Given the description of an element on the screen output the (x, y) to click on. 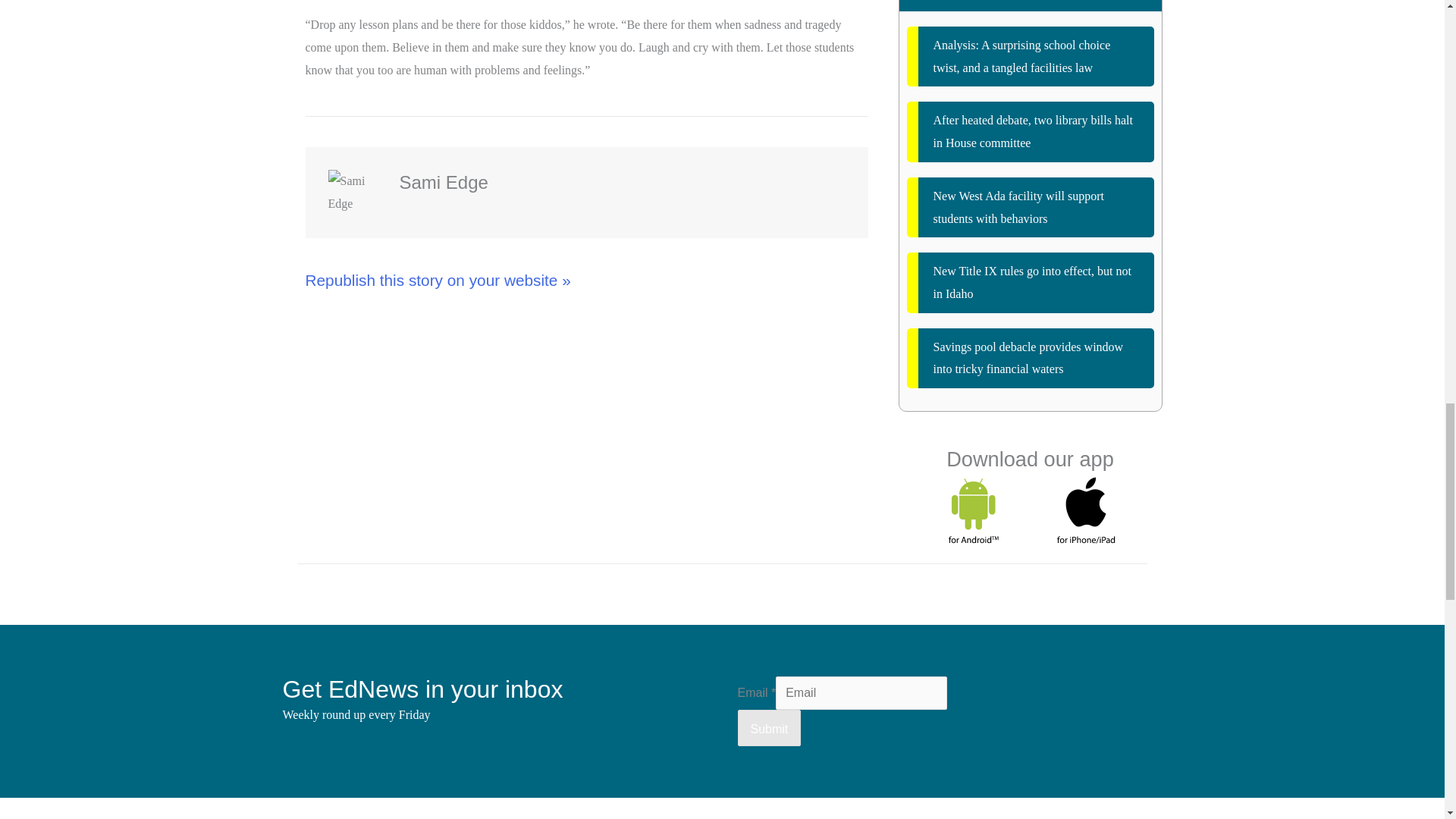
Submit (768, 728)
New West Ada facility will support students with behaviors (1030, 207)
New Title IX rules go into effect, but not in Idaho (1030, 282)
